Given the description of an element on the screen output the (x, y) to click on. 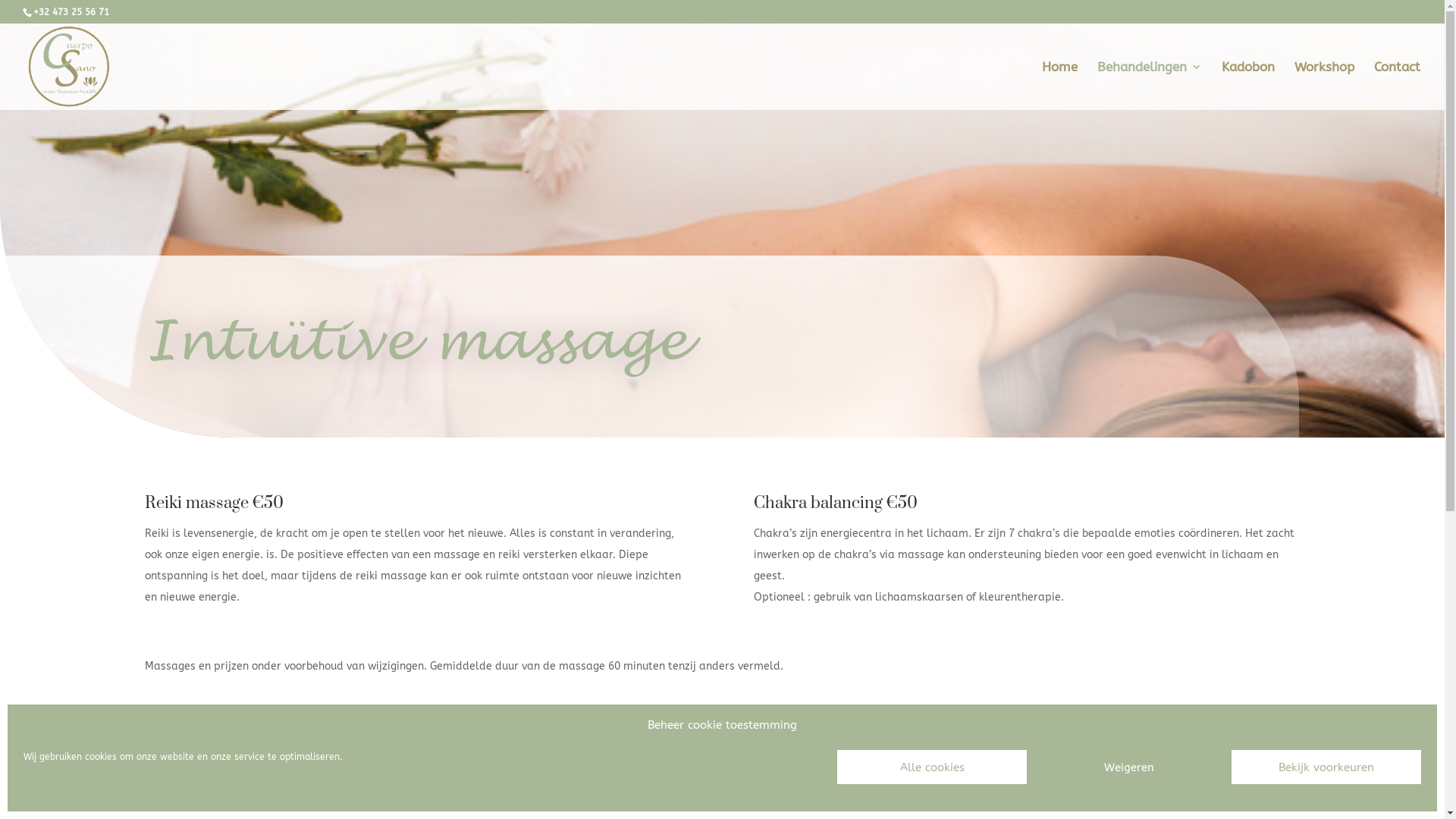
Kadobon Element type: text (1247, 85)
Weigeren Element type: text (1128, 766)
Behandelingen Element type: text (1149, 85)
Contact Element type: text (1397, 85)
Home Element type: text (1059, 85)
Workshop Element type: text (1324, 85)
Alle cookies Element type: text (931, 766)
Bekijk voorkeuren Element type: text (1326, 766)
